Given the description of an element on the screen output the (x, y) to click on. 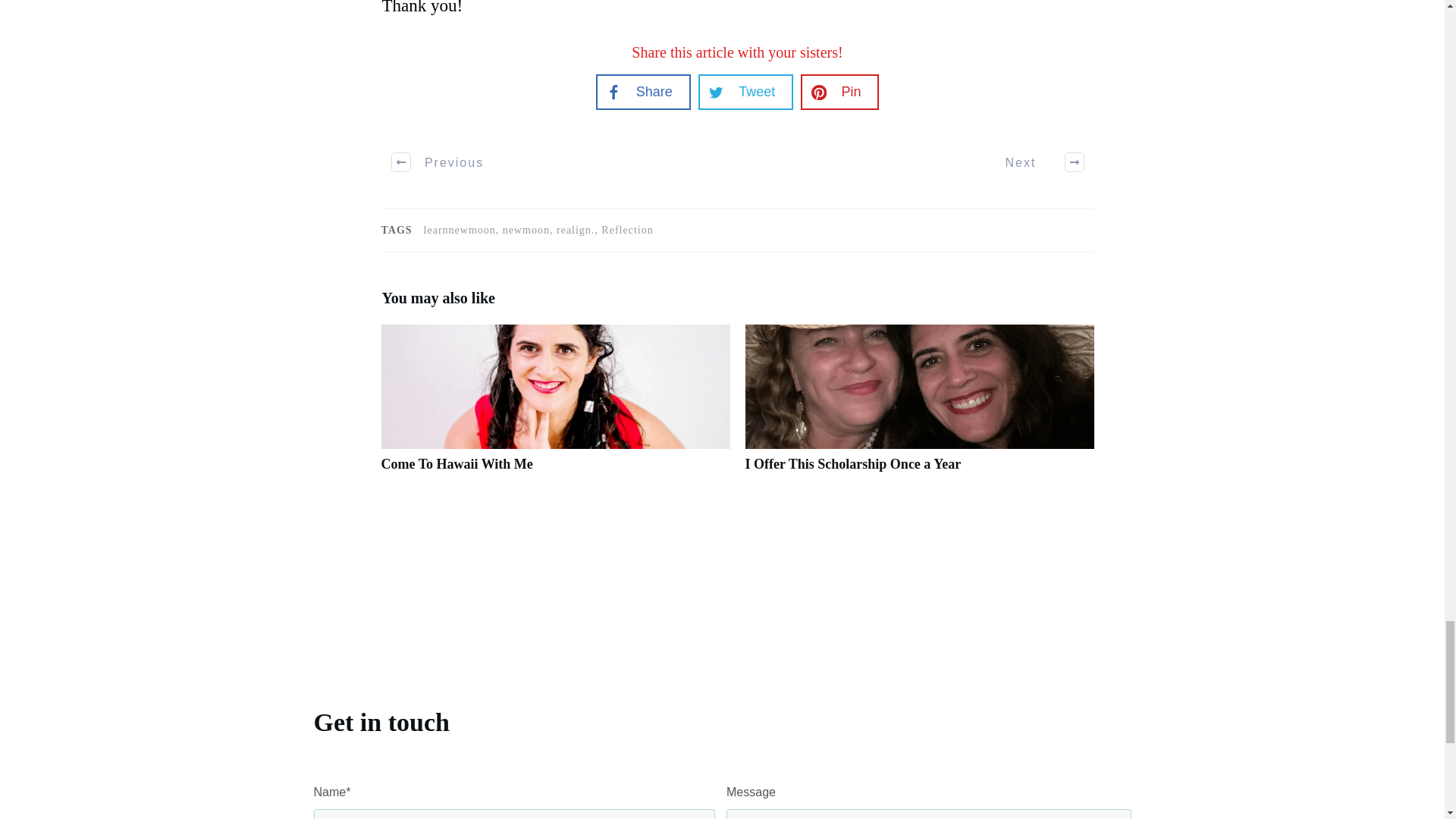
Come To Hawaii With Me (554, 406)
Next (1036, 161)
Come To Hawaii With Me (456, 463)
Tweet (746, 92)
Pin (839, 92)
I Offer This Scholarship Once a Year (918, 406)
Come To Hawaii With Me (456, 463)
I Offer This Scholarship Once a Year (852, 463)
Previous (438, 161)
Share (642, 92)
I Offer This Scholarship Once a Year (852, 463)
